Given the description of an element on the screen output the (x, y) to click on. 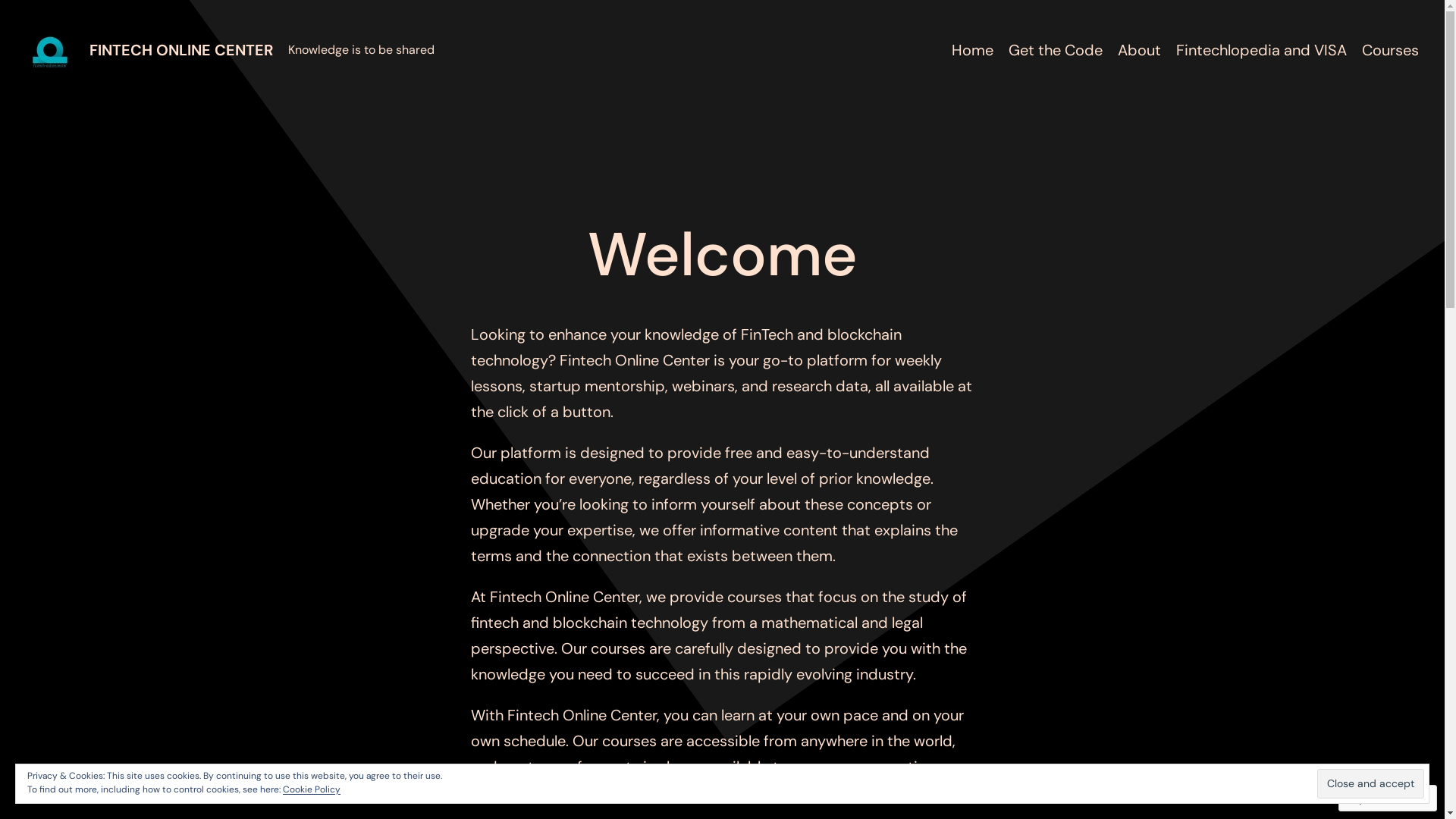
Follow Element type: text (1372, 797)
Fintechlopedia and VISA Element type: text (1261, 49)
Courses Element type: text (1389, 49)
Close and accept Element type: text (1370, 783)
Home Element type: text (972, 49)
Cookie Policy Element type: text (311, 789)
Get the Code Element type: text (1055, 49)
About Element type: text (1139, 49)
FINTECH ONLINE CENTER Element type: text (181, 49)
